Given the description of an element on the screen output the (x, y) to click on. 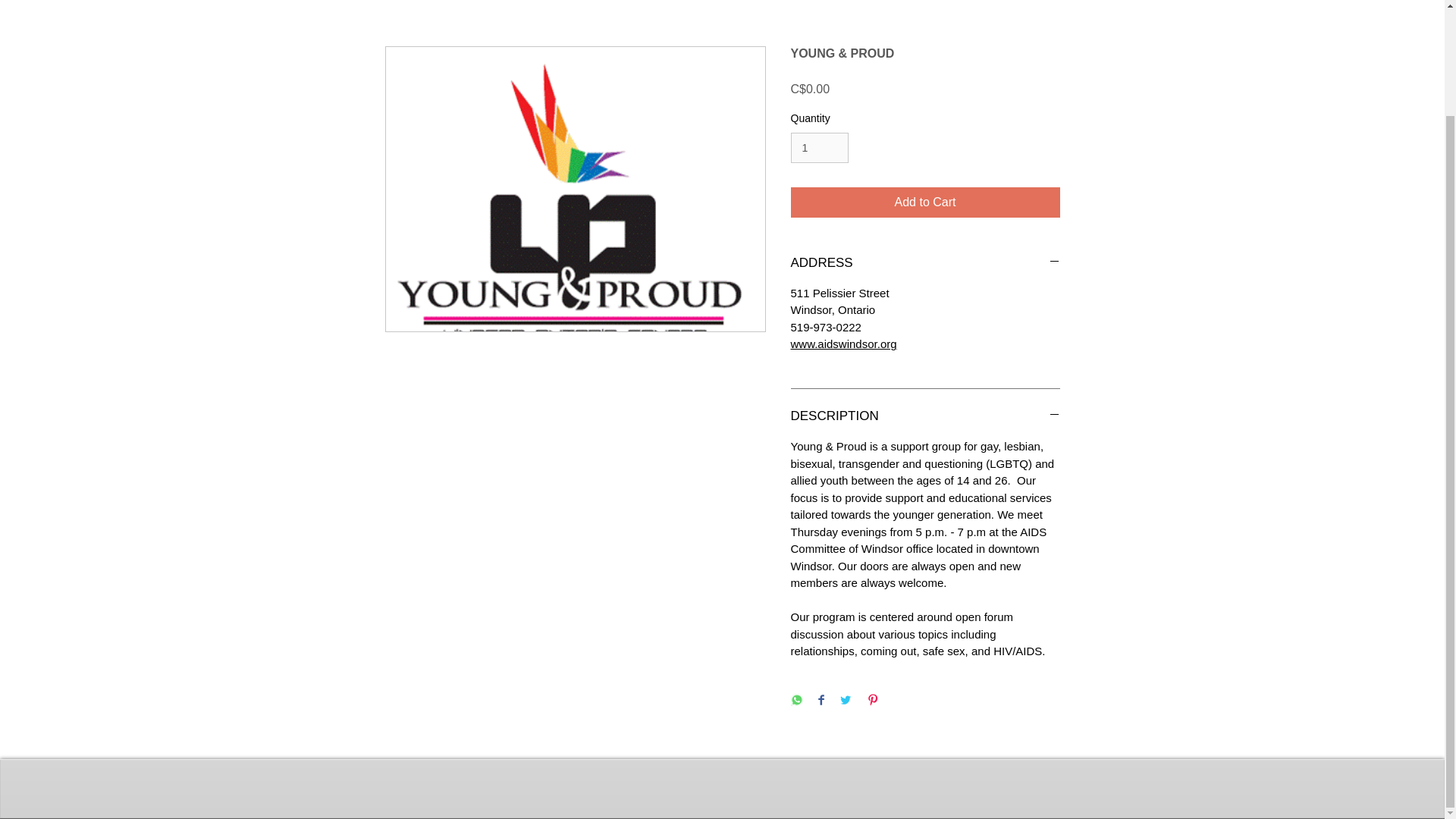
Add to Cart (924, 202)
www.aidswindsor.org (843, 343)
1 (818, 147)
ADDRESS (924, 262)
DESCRIPTION (924, 416)
